Given the description of an element on the screen output the (x, y) to click on. 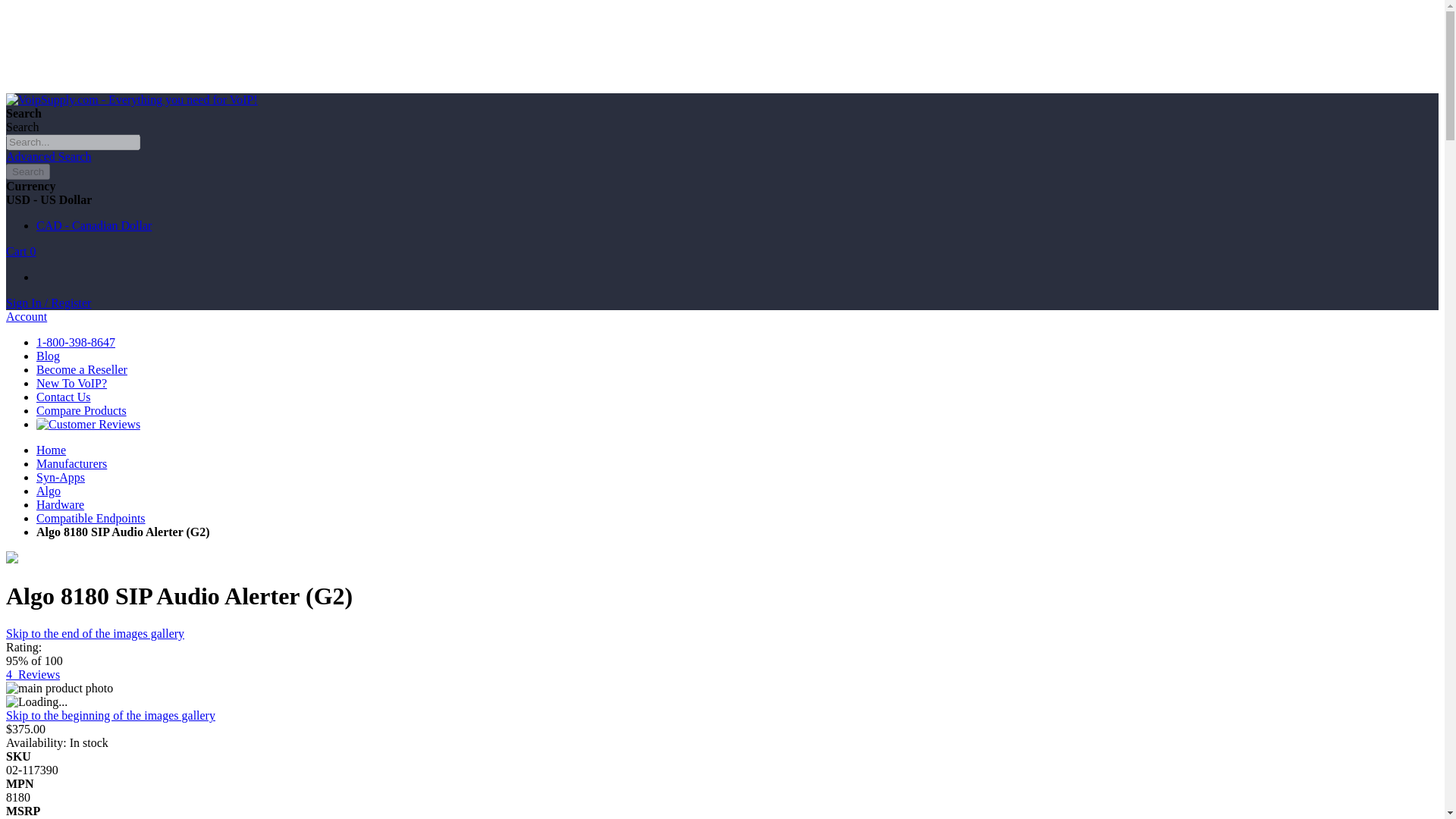
Skip to the end of the images gallery (94, 633)
My Account (47, 302)
Search (27, 171)
CAD - Canadian Dollar (93, 225)
Contact Us (63, 396)
4  Reviews (32, 674)
Become a Reseller (82, 369)
Compare Products (81, 410)
Search (27, 171)
Compatible Endpoints (90, 517)
New To VoIP? (71, 382)
VoipSupply.com - Everything you need for VoIP! (131, 99)
Cart 0 (20, 250)
Advanced Search (47, 155)
Algo (48, 490)
